Given the description of an element on the screen output the (x, y) to click on. 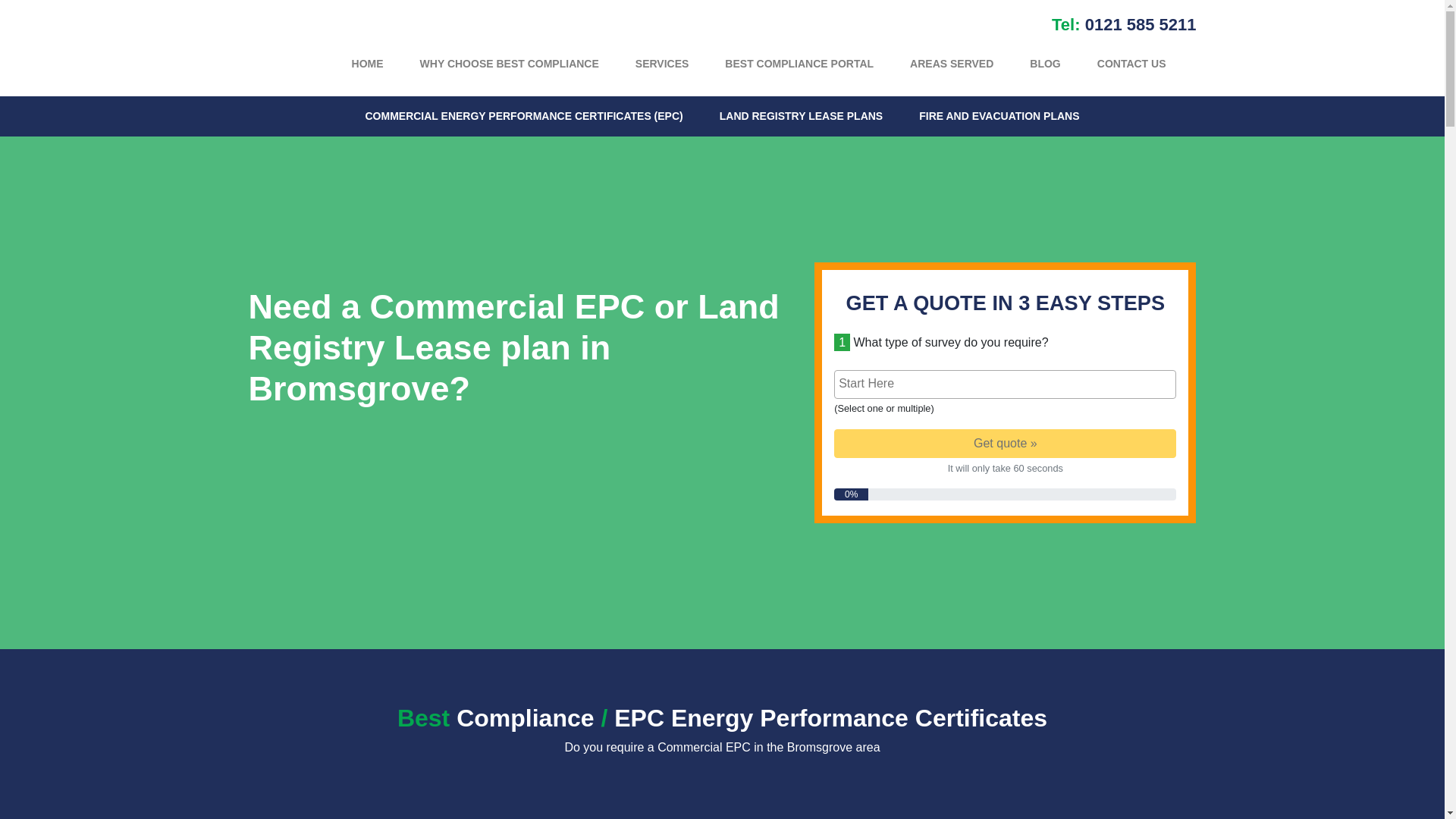
HOME (367, 63)
BEST COMPLIANCE PORTAL (798, 63)
Contact Us (1131, 63)
Services (662, 63)
Home (367, 63)
SERVICES (662, 63)
Best Compliance Portal (798, 63)
AREAS SERVED (951, 63)
Areas Served (951, 63)
CONTACT US (1131, 63)
Land Registry Lease Plans (801, 116)
Why Choose BEST Compliance (509, 63)
LAND REGISTRY LEASE PLANS (801, 116)
BLOG (1044, 63)
0121 585 5211 (1140, 24)
